Given the description of an element on the screen output the (x, y) to click on. 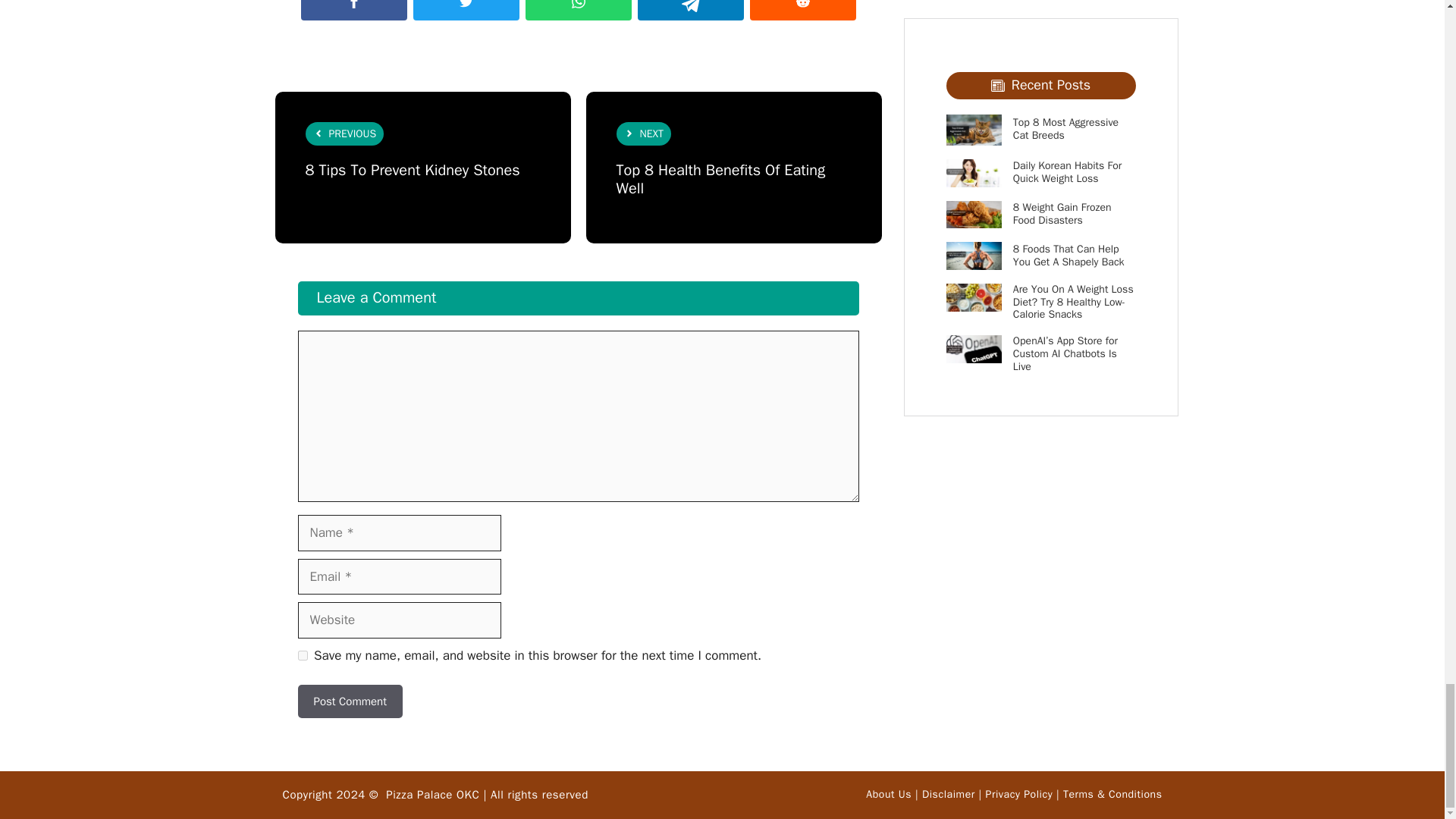
Top 8 Health Benefits Of Eating Well (720, 179)
Post Comment (349, 701)
8 Tips To Prevent Kidney Stones (411, 169)
Post Comment (349, 701)
yes (302, 655)
